Given the description of an element on the screen output the (x, y) to click on. 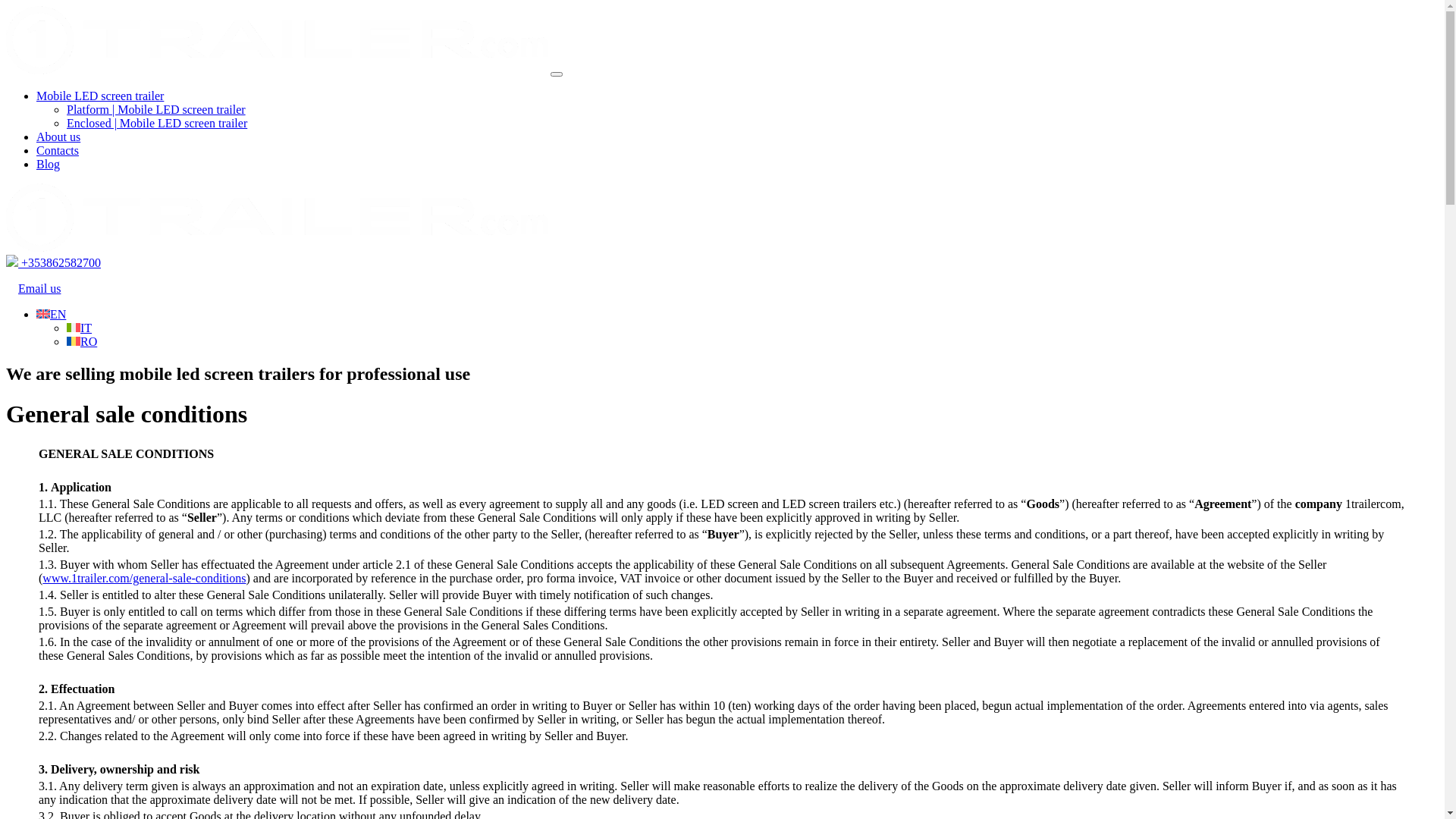
www.1trailer.com/general-sale-conditions Element type: text (143, 577)
Mobile LED screen trailer Element type: text (99, 95)
Platform | Mobile LED screen trailer Element type: text (155, 109)
Contacts Element type: text (57, 150)
+353862582700 Element type: text (53, 262)
Email us Element type: text (722, 301)
RO Element type: text (81, 341)
About us Element type: text (58, 136)
Enclosed | Mobile LED screen trailer Element type: text (156, 122)
IT Element type: text (78, 327)
Blog Element type: text (47, 163)
EN Element type: text (50, 313)
